Given the description of an element on the screen output the (x, y) to click on. 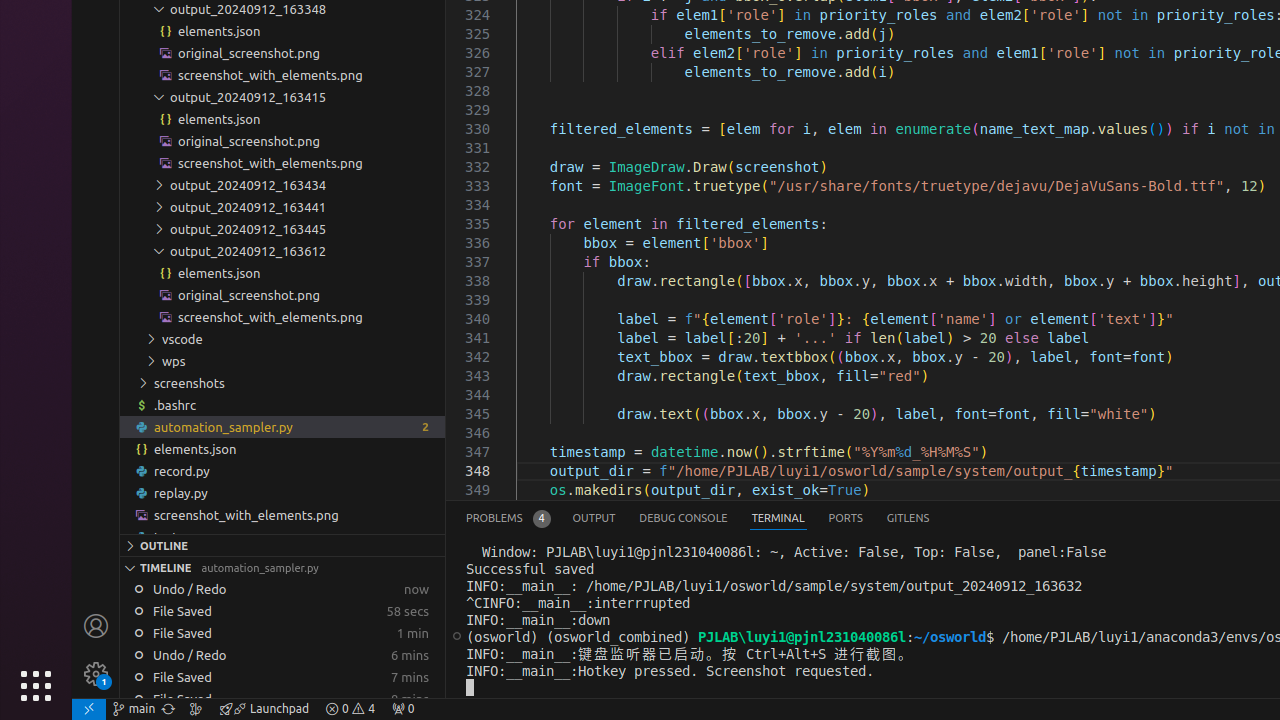
No Ports Forwarded Element type: push-button (403, 709)
now: Undo / Redo Element type: tree-item (282, 589)
Debug Console (Ctrl+Shift+Y) Element type: page-tab (683, 518)
Problems (Ctrl+Shift+M) - Total 4 Problems Element type: page-tab (507, 518)
Outline Section Element type: push-button (282, 545)
